Given the description of an element on the screen output the (x, y) to click on. 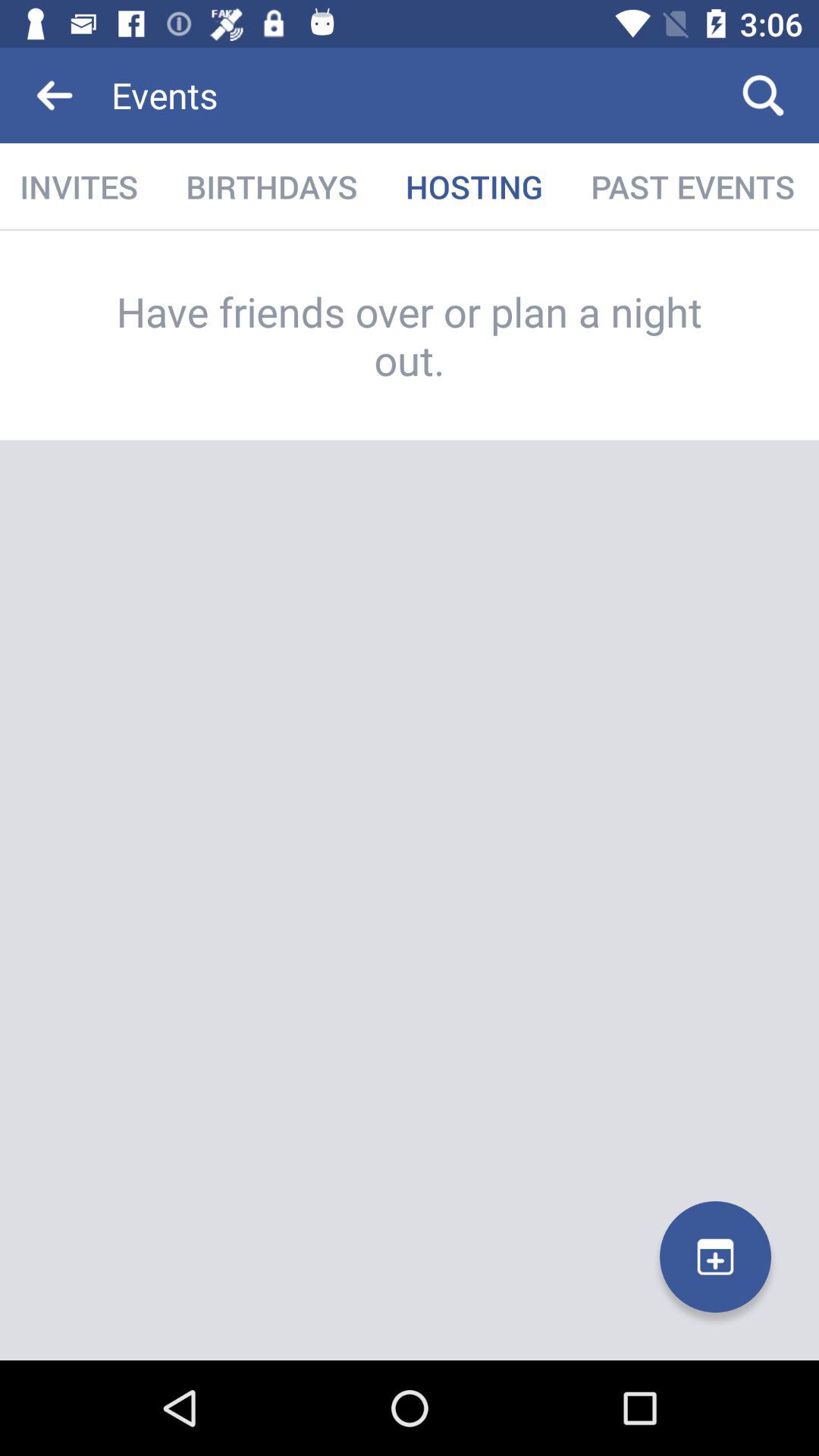
tap the item below the events item (693, 186)
